Given the description of an element on the screen output the (x, y) to click on. 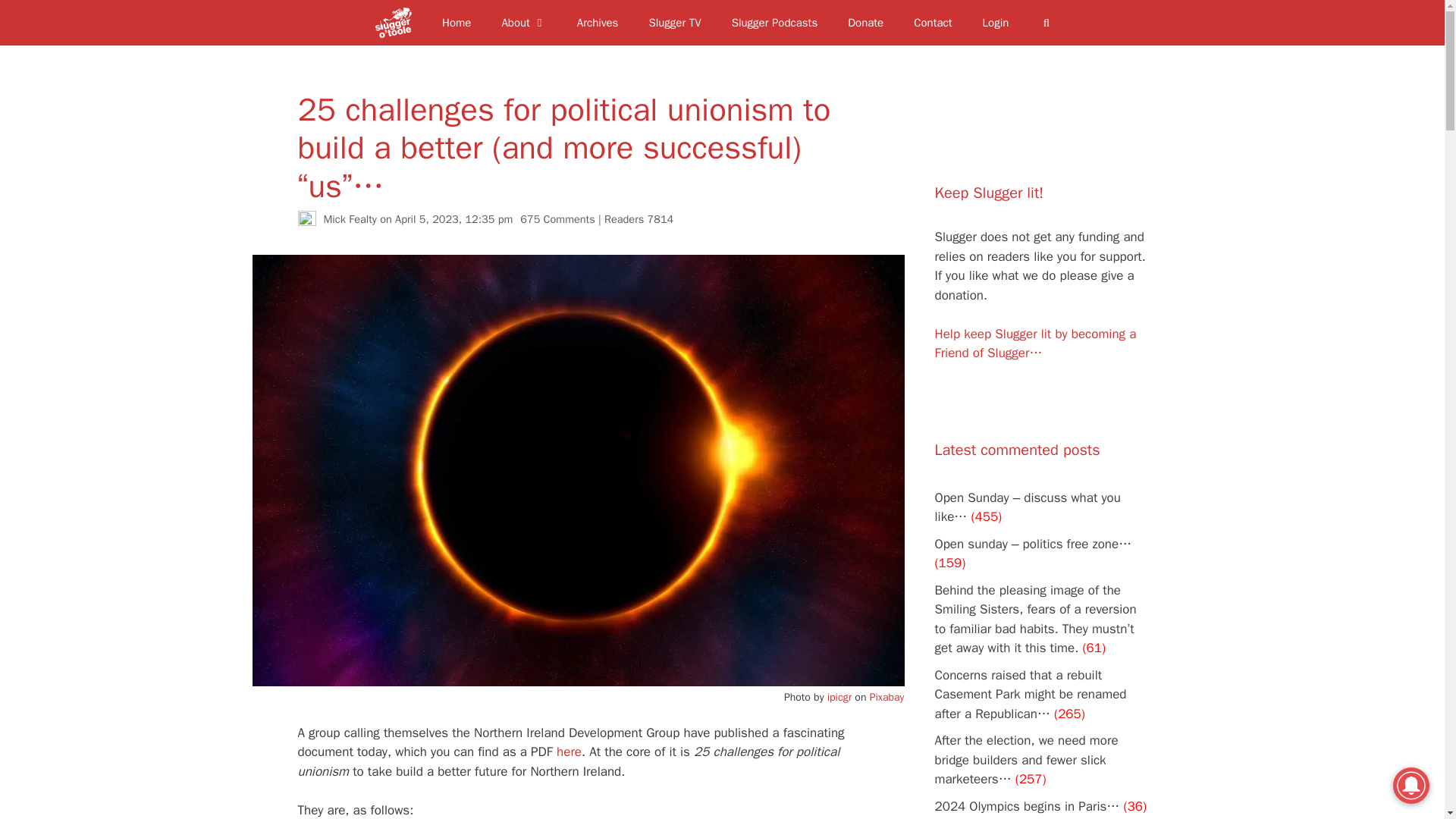
View all posts by Mick Fealty (349, 219)
Login (996, 22)
Slugger Podcasts (774, 22)
Home (456, 22)
Mick Fealty (349, 219)
About (523, 22)
Contact (932, 22)
Donate (865, 22)
Slugger O'Toole (397, 22)
Slugger TV (674, 22)
Archives (597, 22)
